Given the description of an element on the screen output the (x, y) to click on. 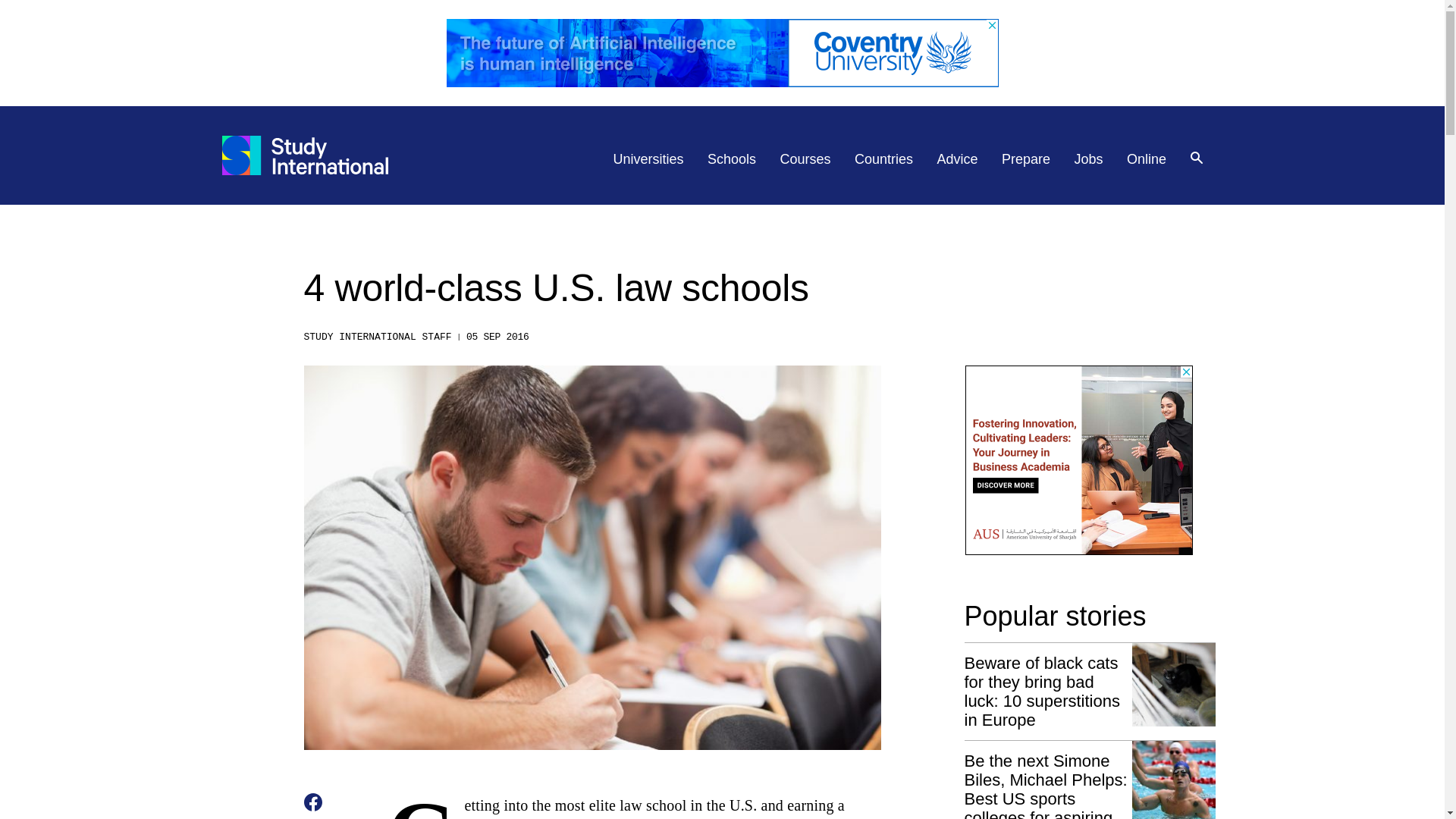
Countries (883, 159)
Courses (805, 159)
STUDY INTERNATIONAL STAFF (376, 337)
Schools (731, 159)
3rd party ad content (1078, 460)
Universities (648, 159)
3rd party ad content (721, 52)
Advice (957, 159)
Jobs (1088, 159)
Online (1146, 159)
Prepare (1025, 159)
